Given the description of an element on the screen output the (x, y) to click on. 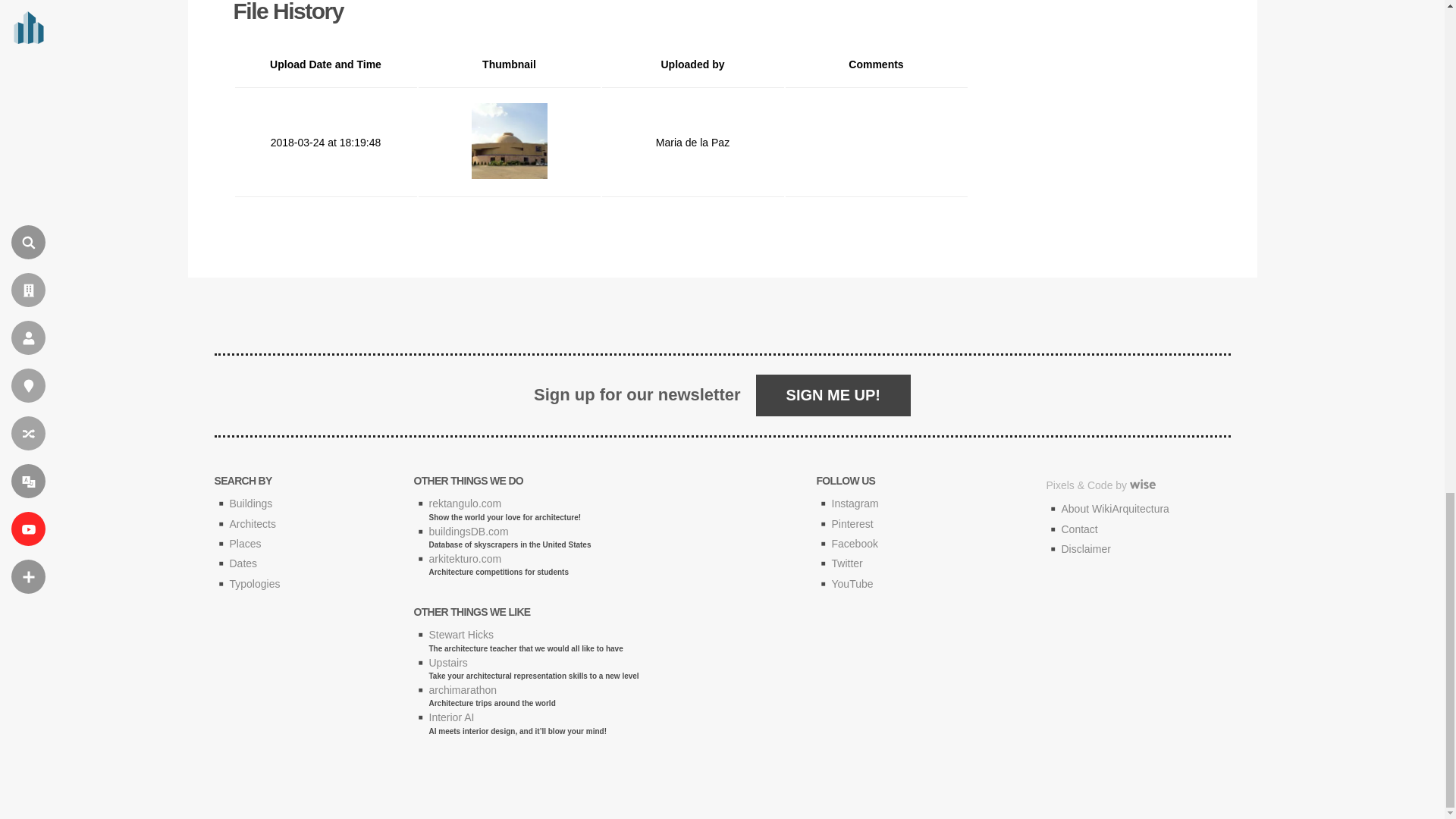
Buildings (250, 503)
Architects (251, 523)
SIGN ME UP! (833, 395)
